Given the description of an element on the screen output the (x, y) to click on. 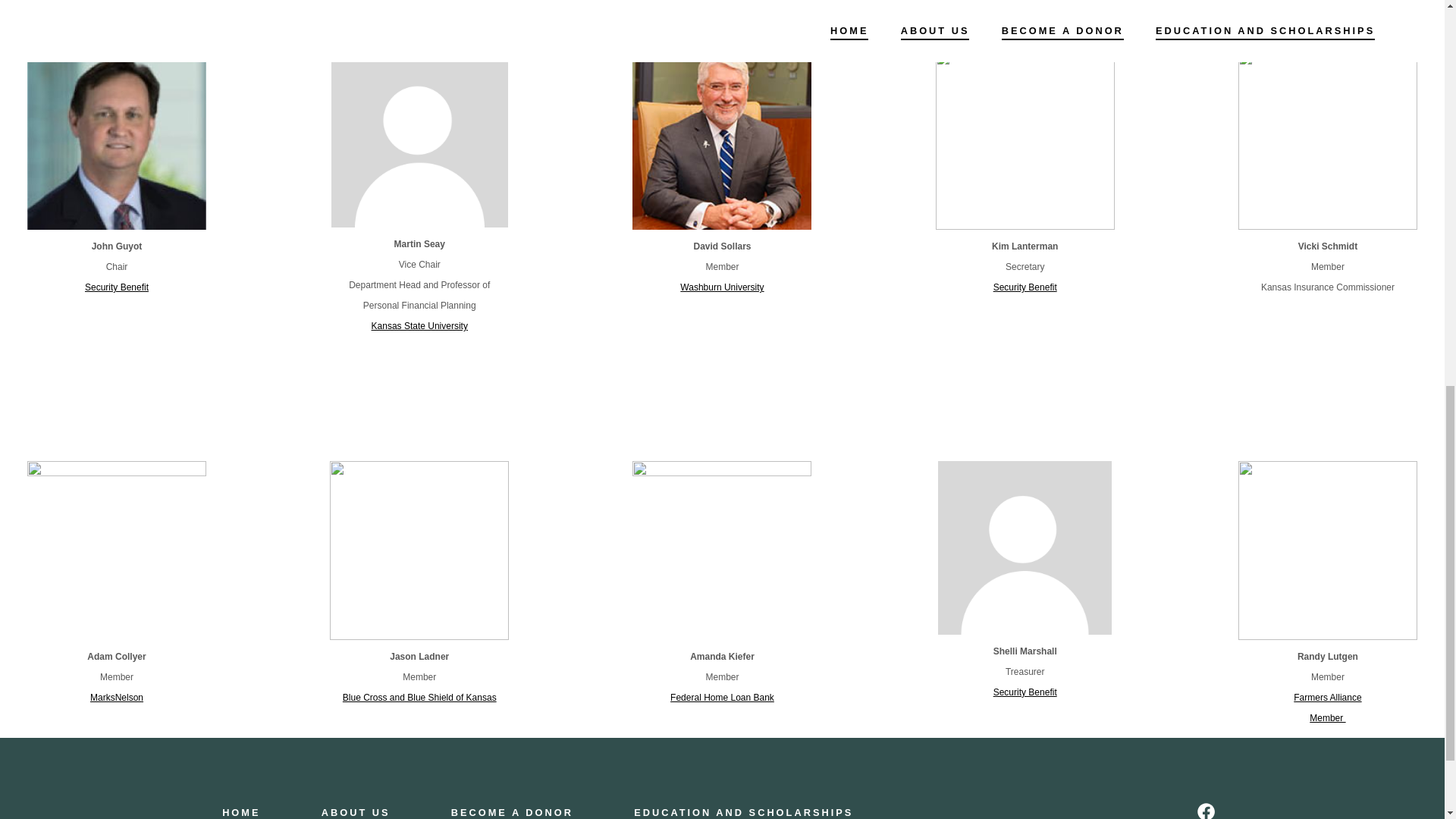
BECOME A DONOR (512, 809)
Security Benefit (1024, 692)
MarksNelson (116, 697)
Kansas State University (1327, 707)
Blue Cross and Blue Shield of Kansas (419, 326)
ABOUT US (419, 697)
Open Facebook in a new tab (355, 809)
HOME (1206, 807)
EDUCATION AND SCHOLARSHIPS (255, 809)
